Given the description of an element on the screen output the (x, y) to click on. 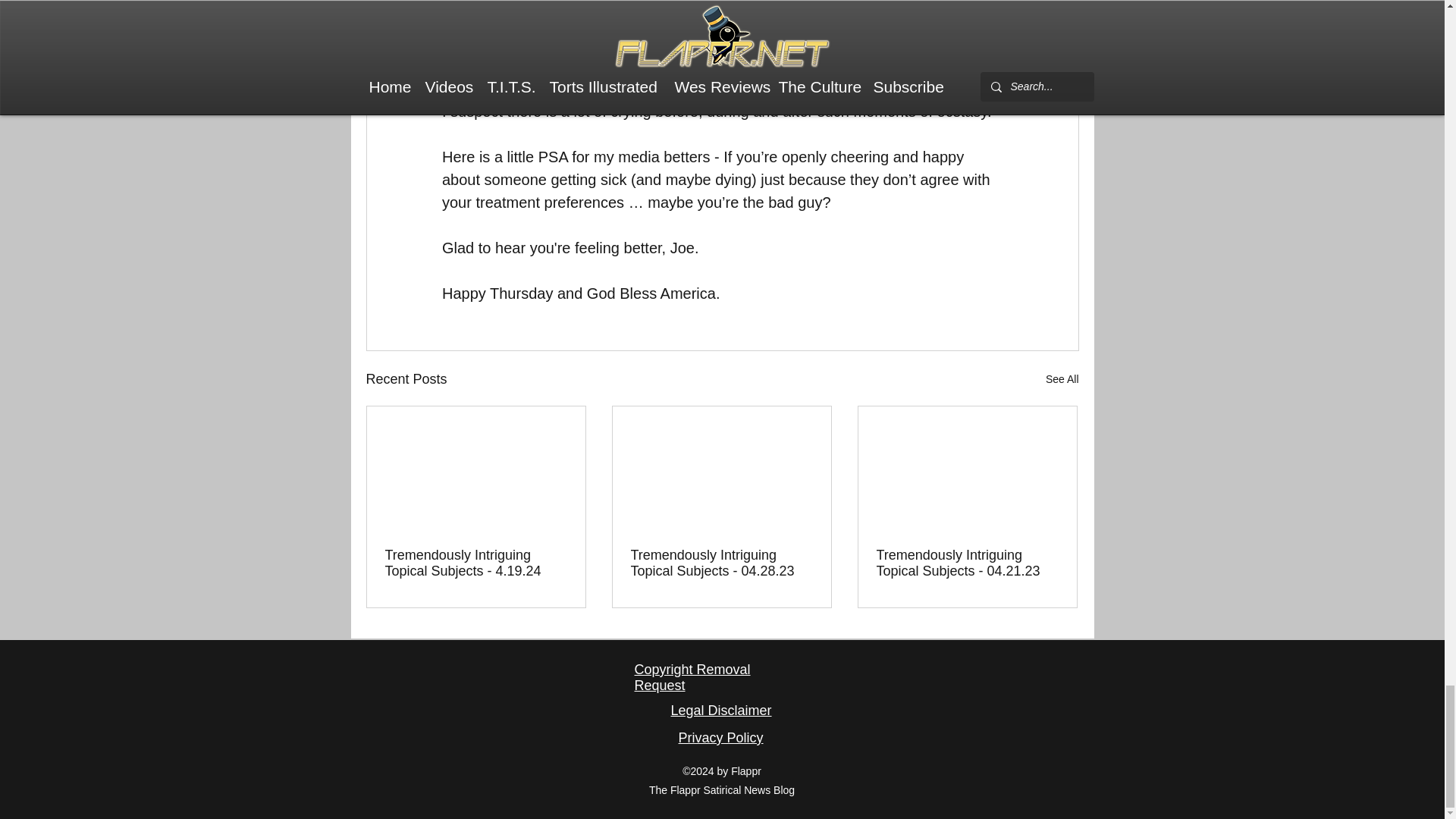
Copyright Removal Request (691, 676)
Tremendously Intriguing Topical Subjects - 04.28.23 (721, 563)
Legal Disclaimer (720, 710)
Privacy Policy (720, 737)
Tremendously Intriguing Topical Subjects - 4.19.24 (476, 563)
Tremendously Intriguing Topical Subjects - 04.21.23 (967, 563)
See All (1061, 379)
